Given the description of an element on the screen output the (x, y) to click on. 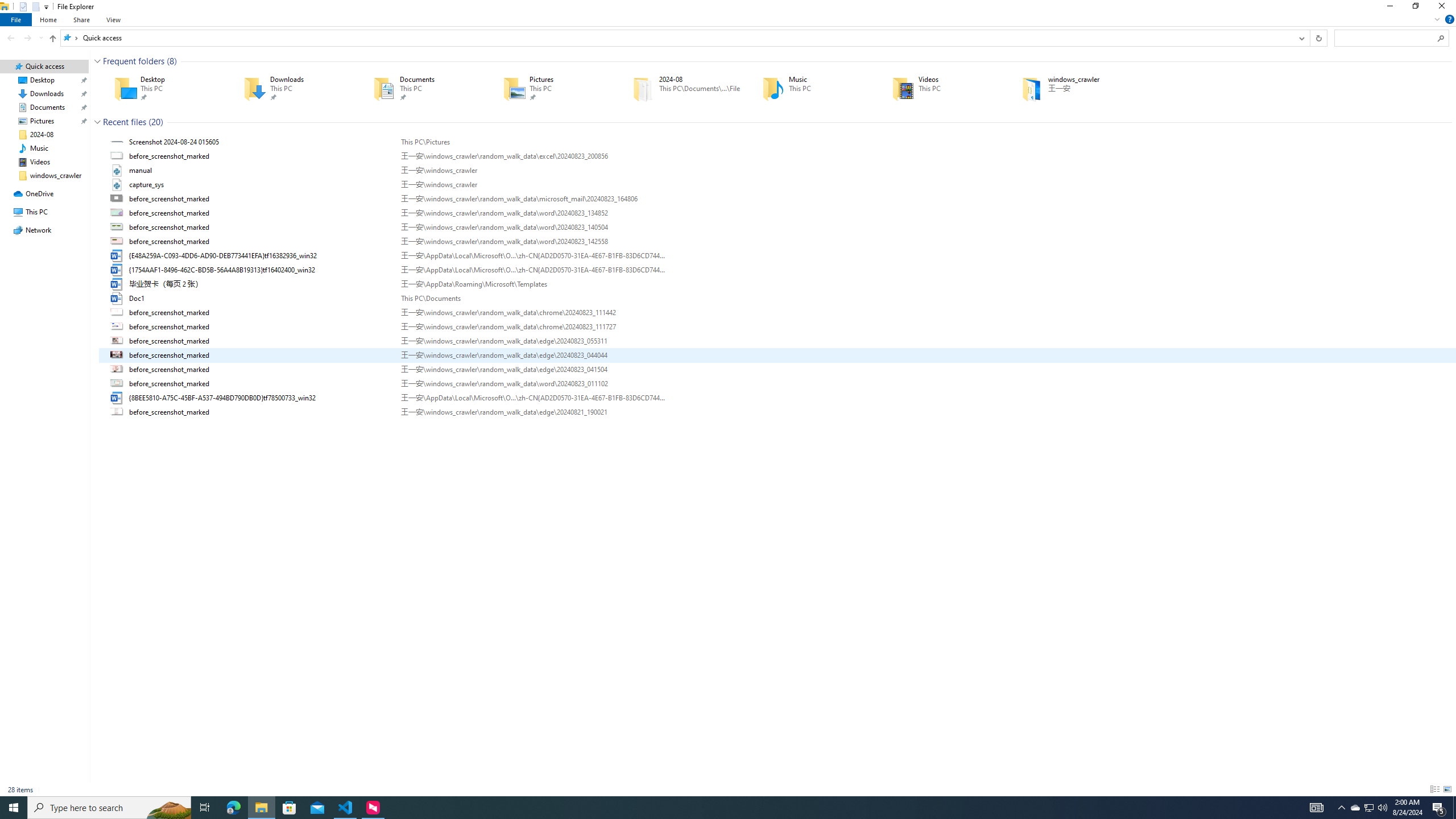
Videos (940, 88)
Up to "Desktop" (Alt + Up Arrow) (52, 38)
System (6, 6)
Pinned (1088, 96)
Recent locations (40, 37)
windows_crawler (1070, 88)
Previous Locations (1301, 37)
